Given the description of an element on the screen output the (x, y) to click on. 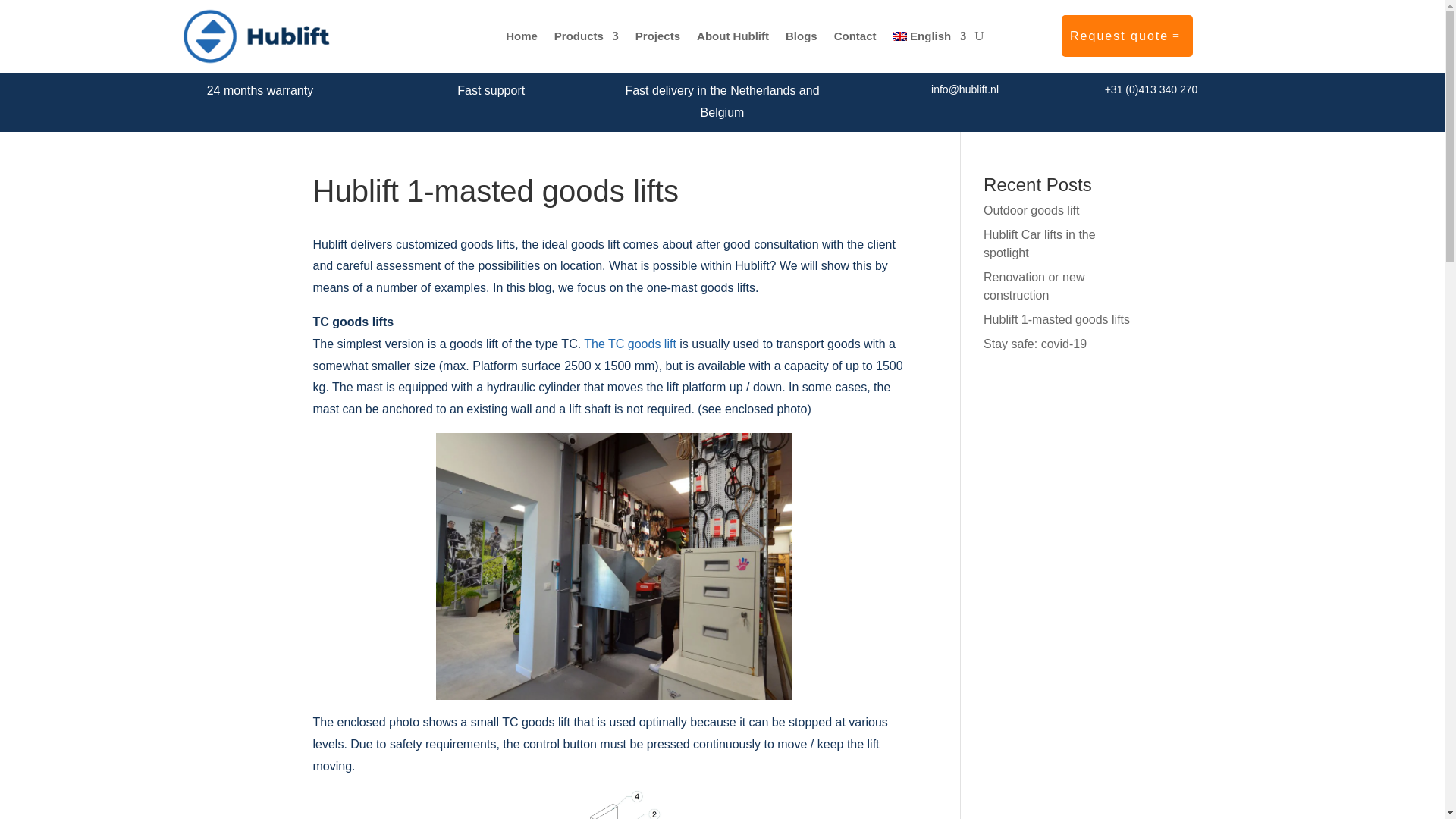
Hublift Car lifts in the spotlight (1040, 243)
Renovation or new construction (1034, 286)
About Hublift (732, 36)
Outdoor goods lift (1031, 210)
English (929, 36)
Hublift 1-masted goods lifts (1056, 318)
The TC goods lift (630, 343)
Stay safe: covid-19 (1035, 343)
Request quote (1126, 35)
English (929, 36)
